Given the description of an element on the screen output the (x, y) to click on. 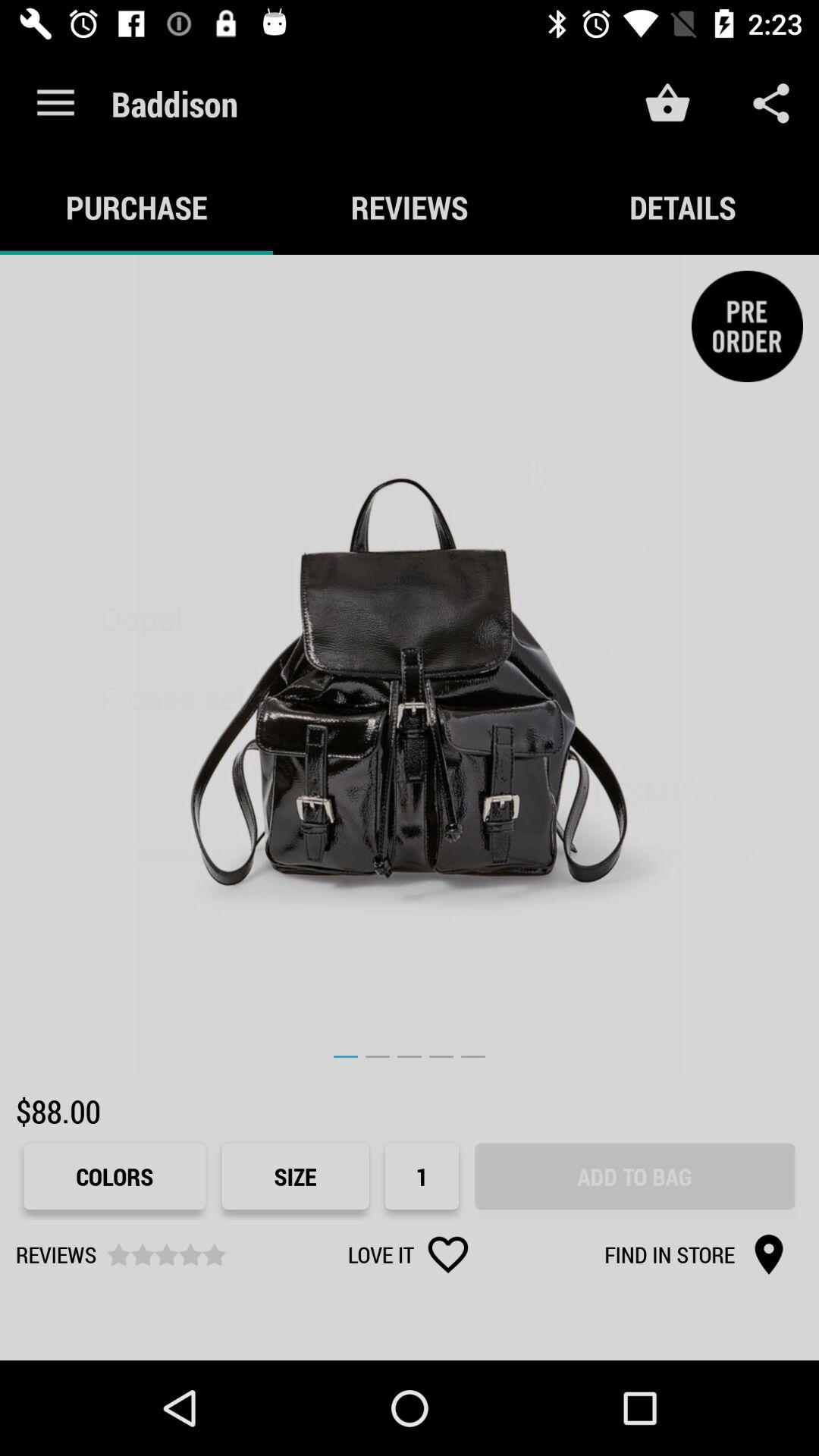
press the icon next to the baddison item (55, 103)
